Given the description of an element on the screen output the (x, y) to click on. 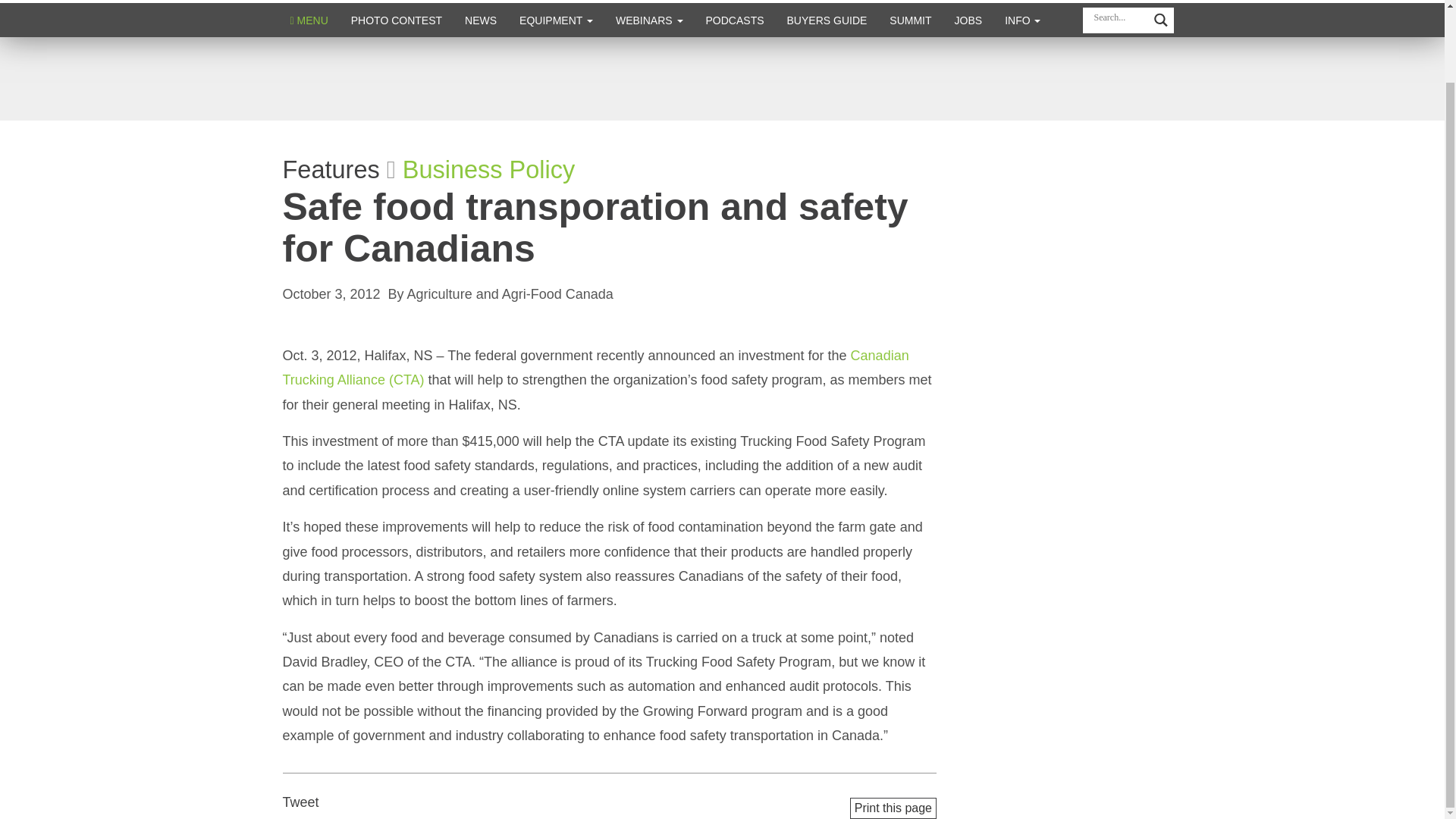
WEBINARS (649, 19)
PODCASTS (735, 19)
EQUIPMENT (556, 19)
SUMMIT (909, 19)
INFO (1021, 19)
3rd party ad content (721, 79)
Click to show site navigation (309, 19)
JOBS (968, 19)
MENU (309, 19)
PHOTO CONTEST (395, 19)
